Given the description of an element on the screen output the (x, y) to click on. 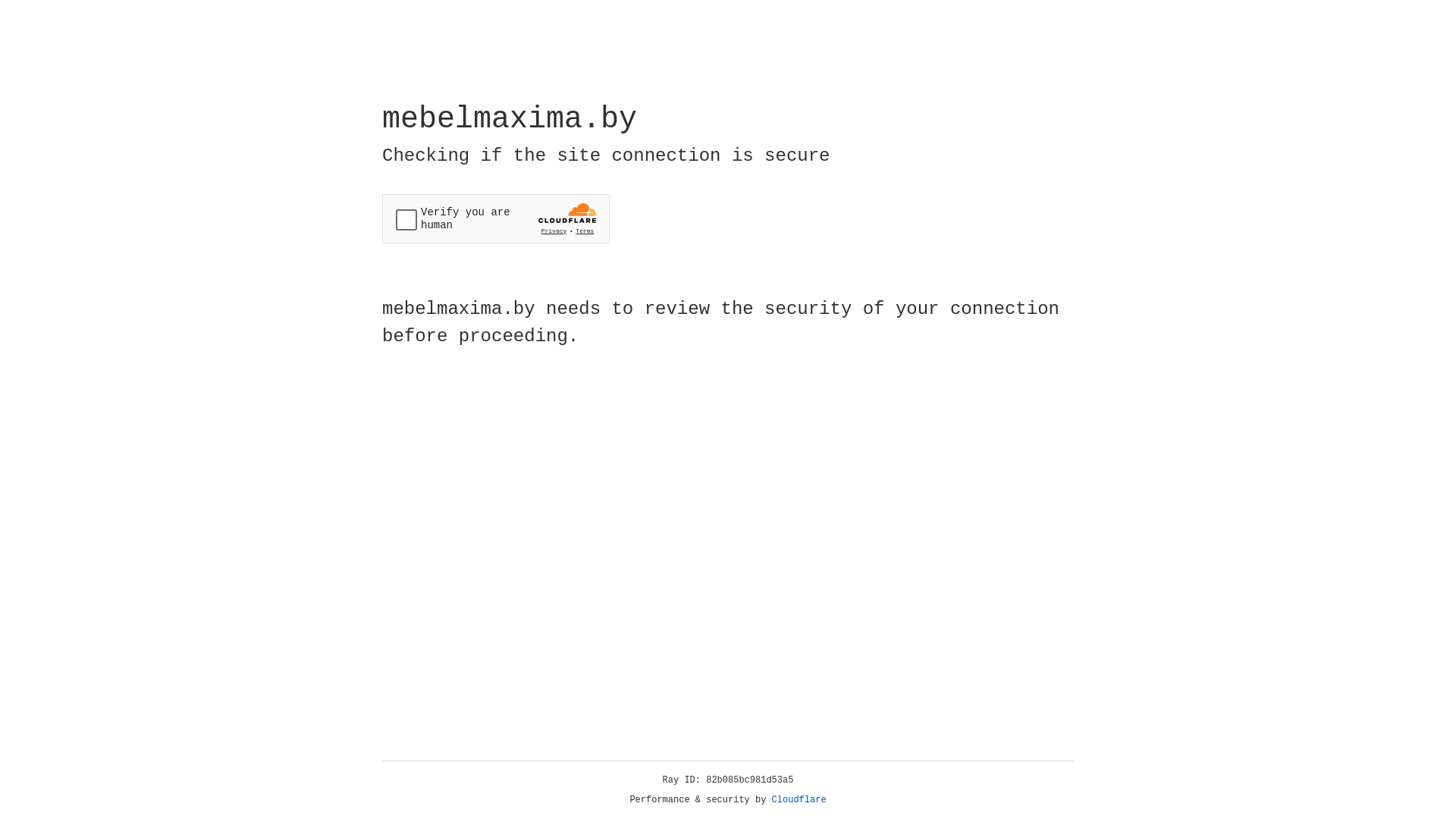
Cloudflare Element type: text (798, 799)
Widget containing a Cloudflare security challenge Element type: hover (495, 218)
